Given the description of an element on the screen output the (x, y) to click on. 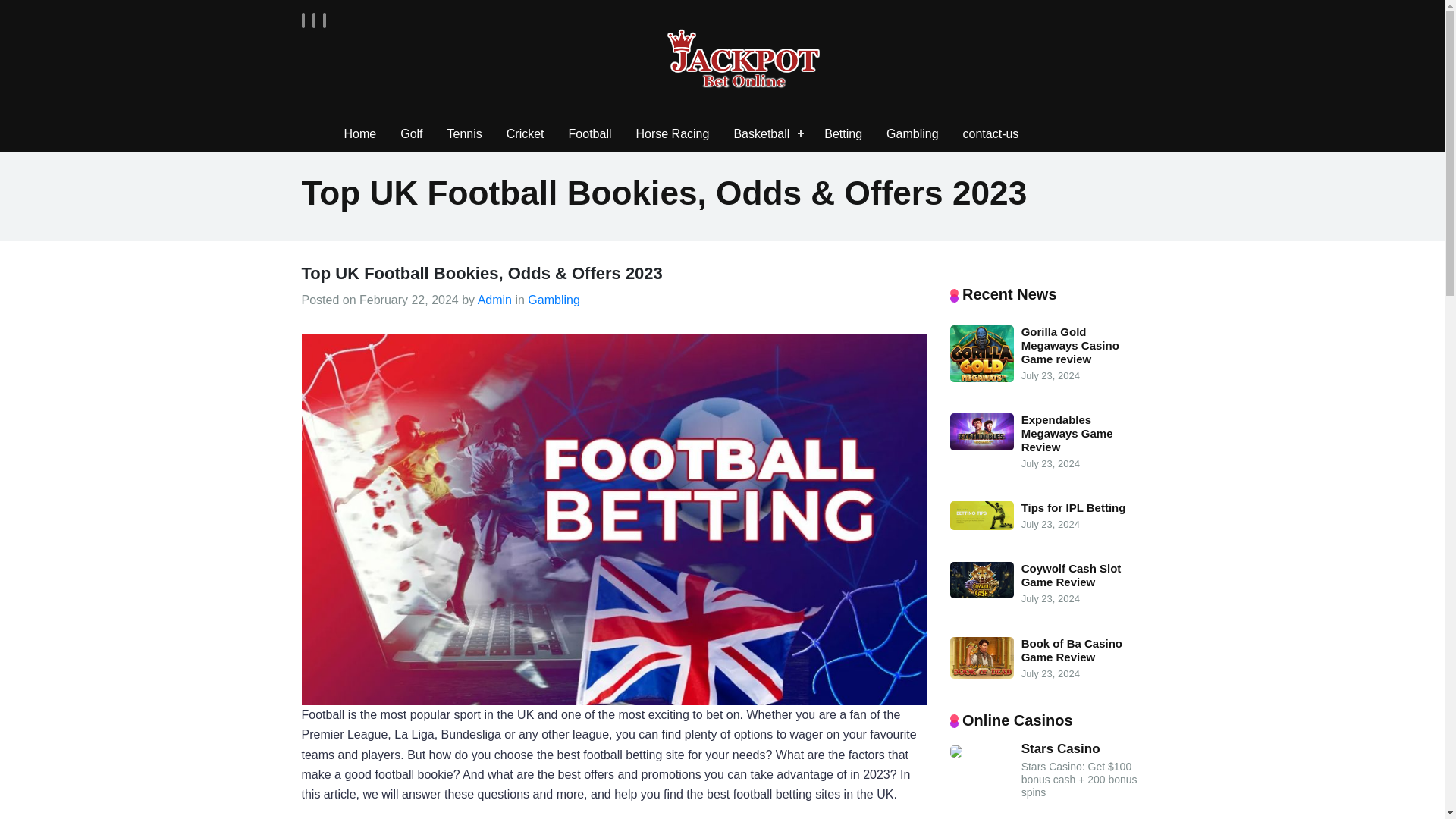
Admin (494, 299)
Tennis (465, 134)
Gambling (912, 134)
Home (359, 134)
Gambling (553, 299)
Basketball (766, 134)
Horse Racing (671, 134)
Cricket (525, 134)
contact-us (990, 134)
Golf (410, 134)
Gorilla Gold Megaways Casino Game review (1070, 345)
Coywolf Cash Slot Game Review (1071, 574)
Tips for IPL Betting (1073, 507)
Posts by Admin (494, 299)
Expendables Megaways Game Review (1067, 433)
